Given the description of an element on the screen output the (x, y) to click on. 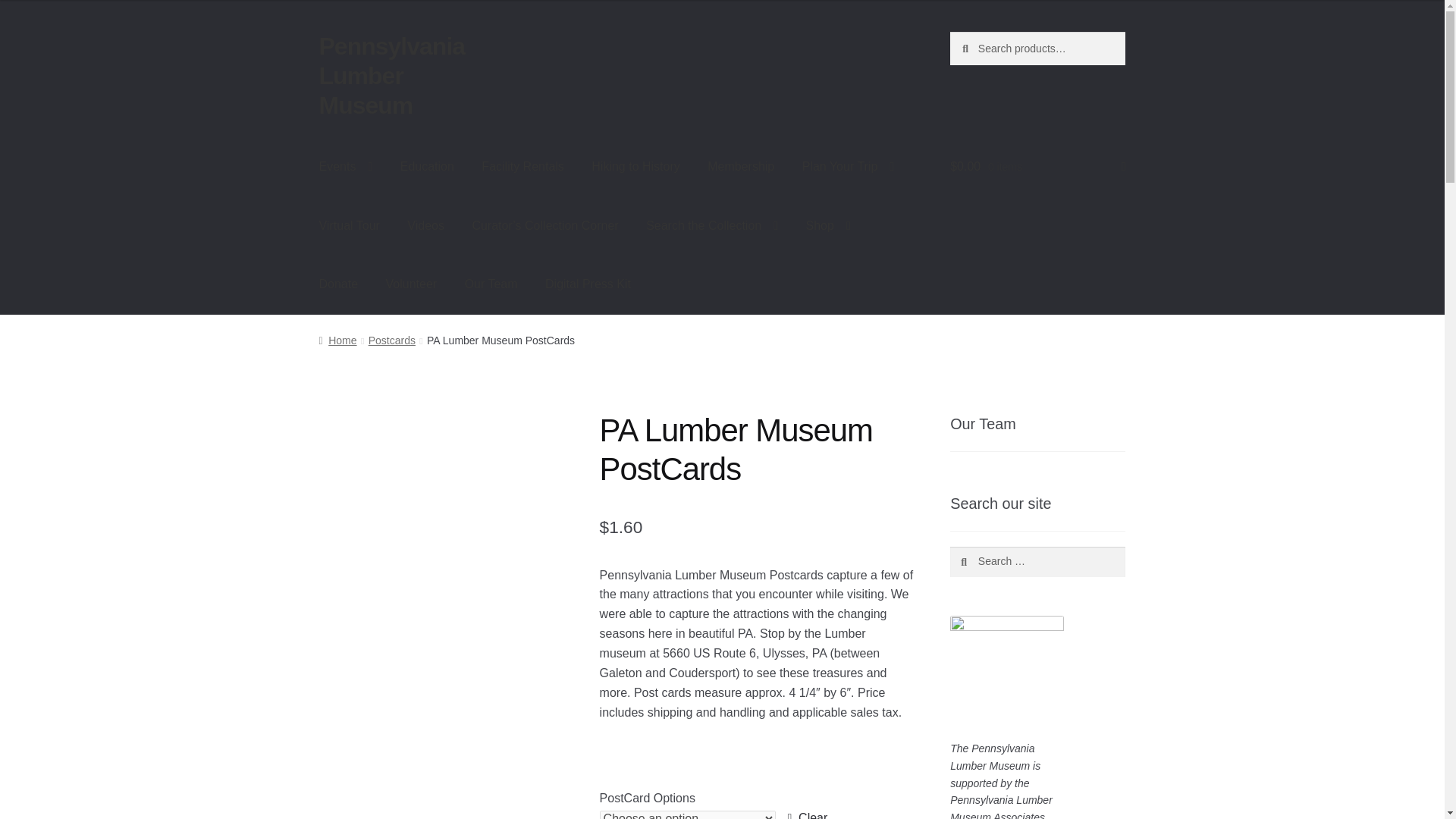
View your shopping cart (1037, 166)
Plan Your Trip (847, 166)
Events (346, 166)
Digital Press Kit (587, 283)
Virtual Tour (349, 225)
Education (426, 166)
Donate (339, 283)
Videos (425, 225)
